Given the description of an element on the screen output the (x, y) to click on. 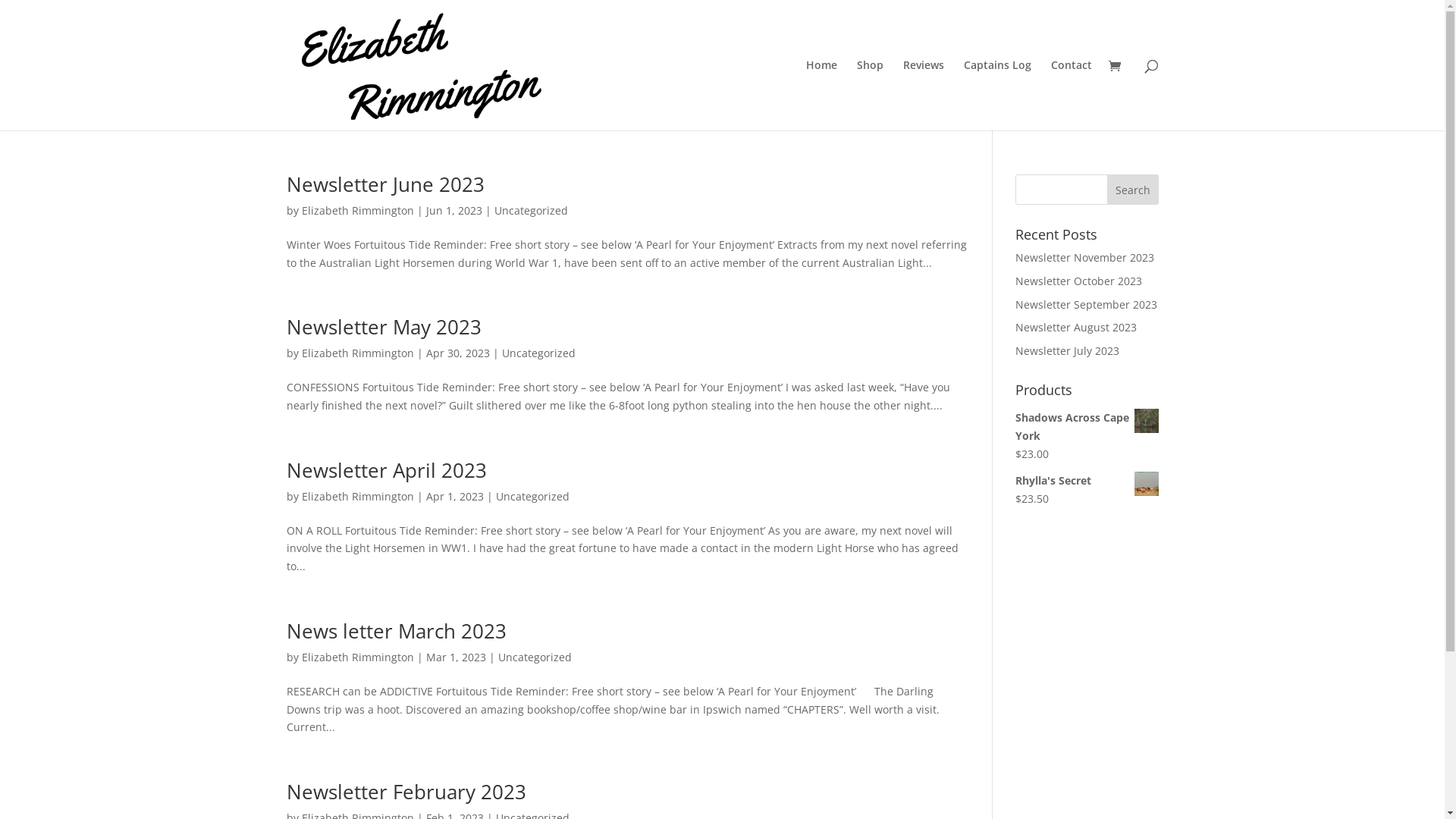
Captains Log Element type: text (996, 94)
Home Element type: text (820, 94)
Newsletter August 2023 Element type: text (1075, 327)
Newsletter May 2023 Element type: text (383, 326)
Elizabeth Rimmington Element type: text (357, 352)
Newsletter June 2023 Element type: text (385, 183)
Newsletter September 2023 Element type: text (1086, 304)
Newsletter October 2023 Element type: text (1078, 280)
Uncategorized Element type: text (530, 210)
Rhylla's Secret Element type: text (1086, 480)
Contact Element type: text (1071, 94)
Elizabeth Rimmington Element type: text (357, 656)
Elizabeth Rimmington Element type: text (357, 210)
Newsletter July 2023 Element type: text (1067, 350)
Uncategorized Element type: text (534, 656)
Reviews Element type: text (922, 94)
Newsletter April 2023 Element type: text (386, 469)
Shadows Across Cape York Element type: text (1086, 426)
Search Element type: text (1132, 189)
Uncategorized Element type: text (538, 352)
Uncategorized Element type: text (532, 496)
Shop Element type: text (869, 94)
Newsletter November 2023 Element type: text (1084, 257)
News letter March 2023 Element type: text (396, 630)
Elizabeth Rimmington Element type: text (357, 496)
Newsletter February 2023 Element type: text (406, 791)
